Given the description of an element on the screen output the (x, y) to click on. 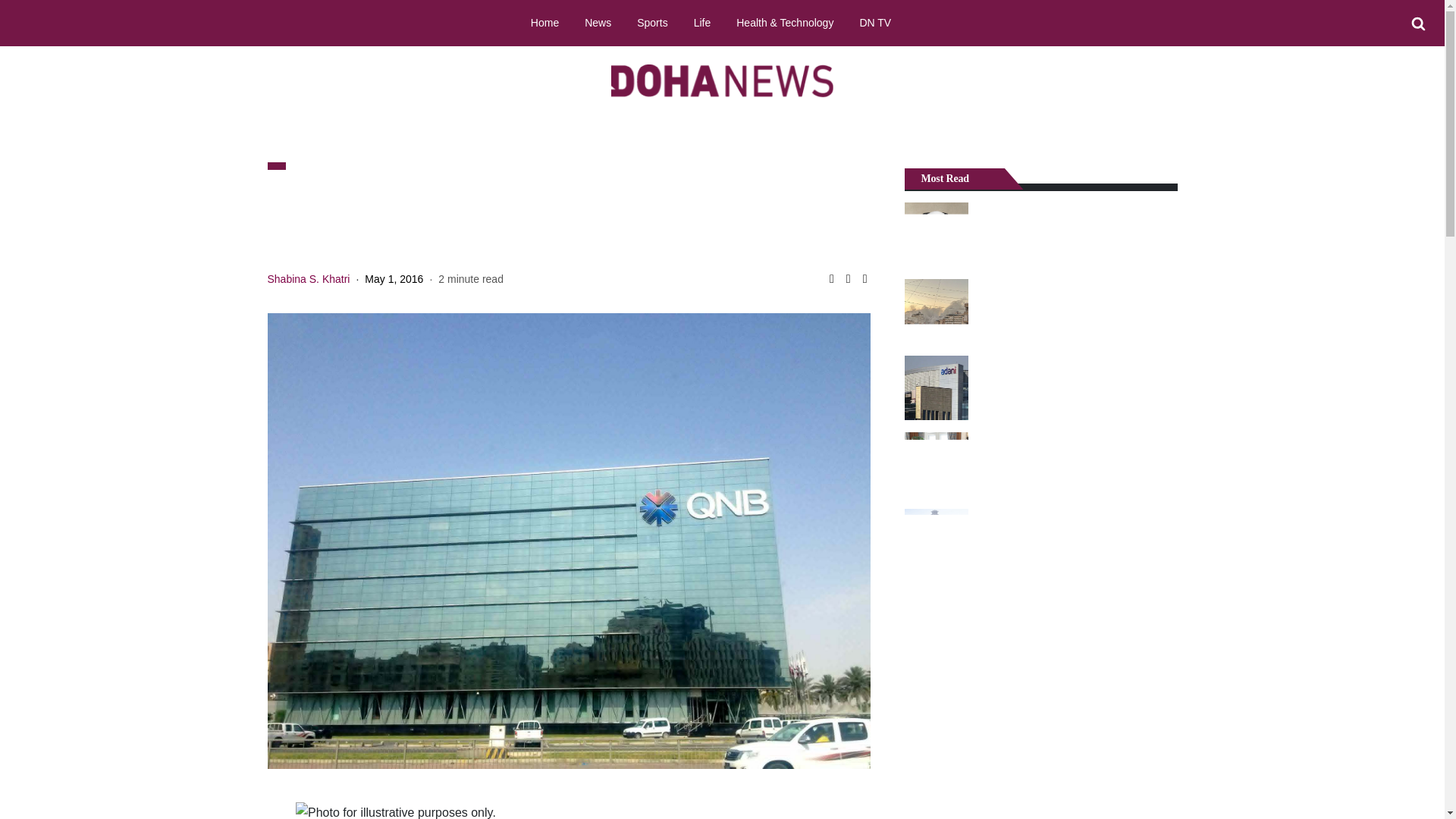
Sports (651, 22)
News (598, 22)
Search (1417, 23)
May 1, 2016 (394, 278)
DN TV (875, 22)
Home (545, 22)
View all posts by Shabina S. Khatri (307, 278)
Shabina S. Khatri (307, 278)
Life (702, 22)
